Given the description of an element on the screen output the (x, y) to click on. 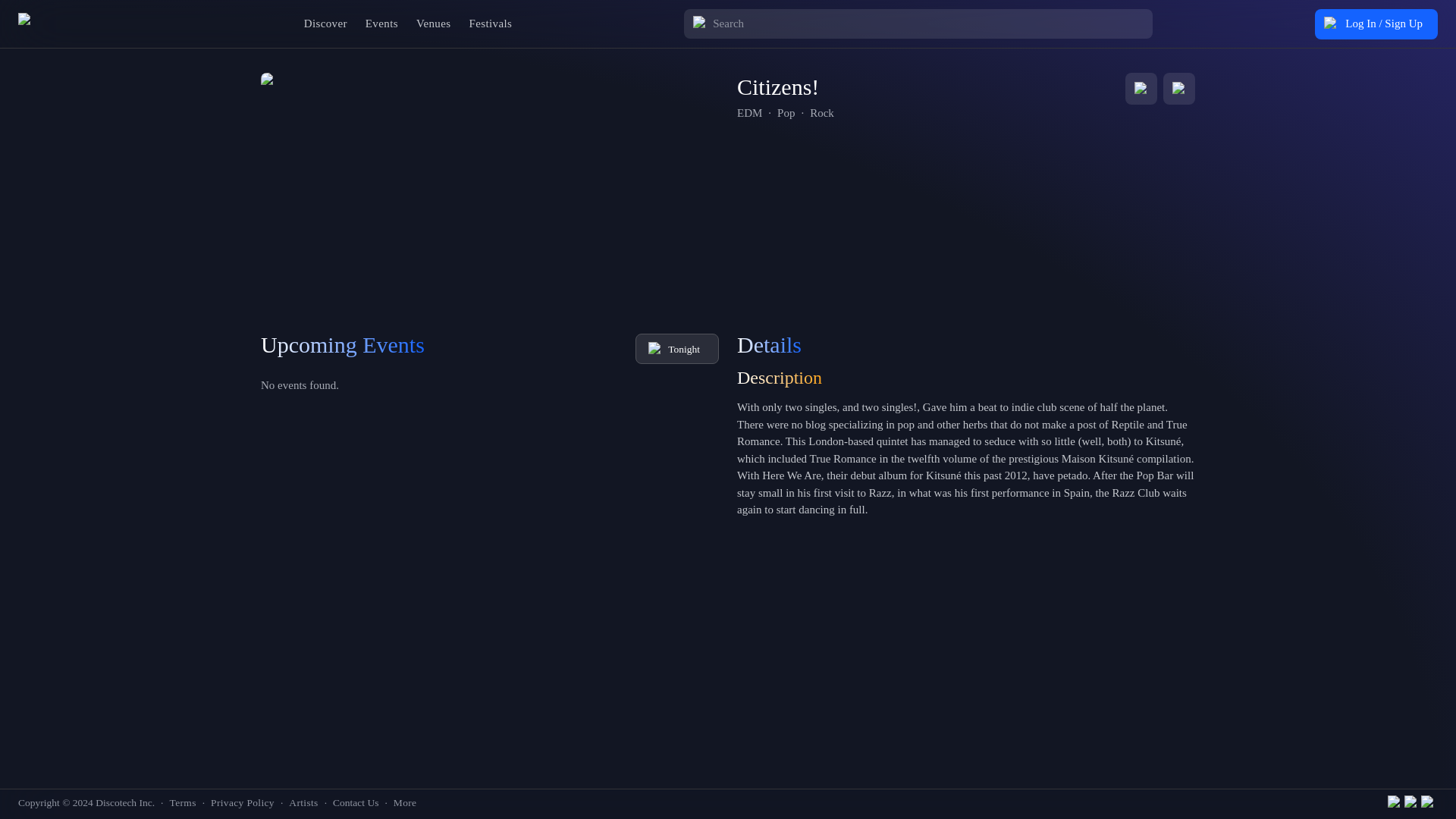
Discover (325, 23)
Venues (433, 23)
Events (381, 23)
Festivals (490, 23)
